Given the description of an element on the screen output the (x, y) to click on. 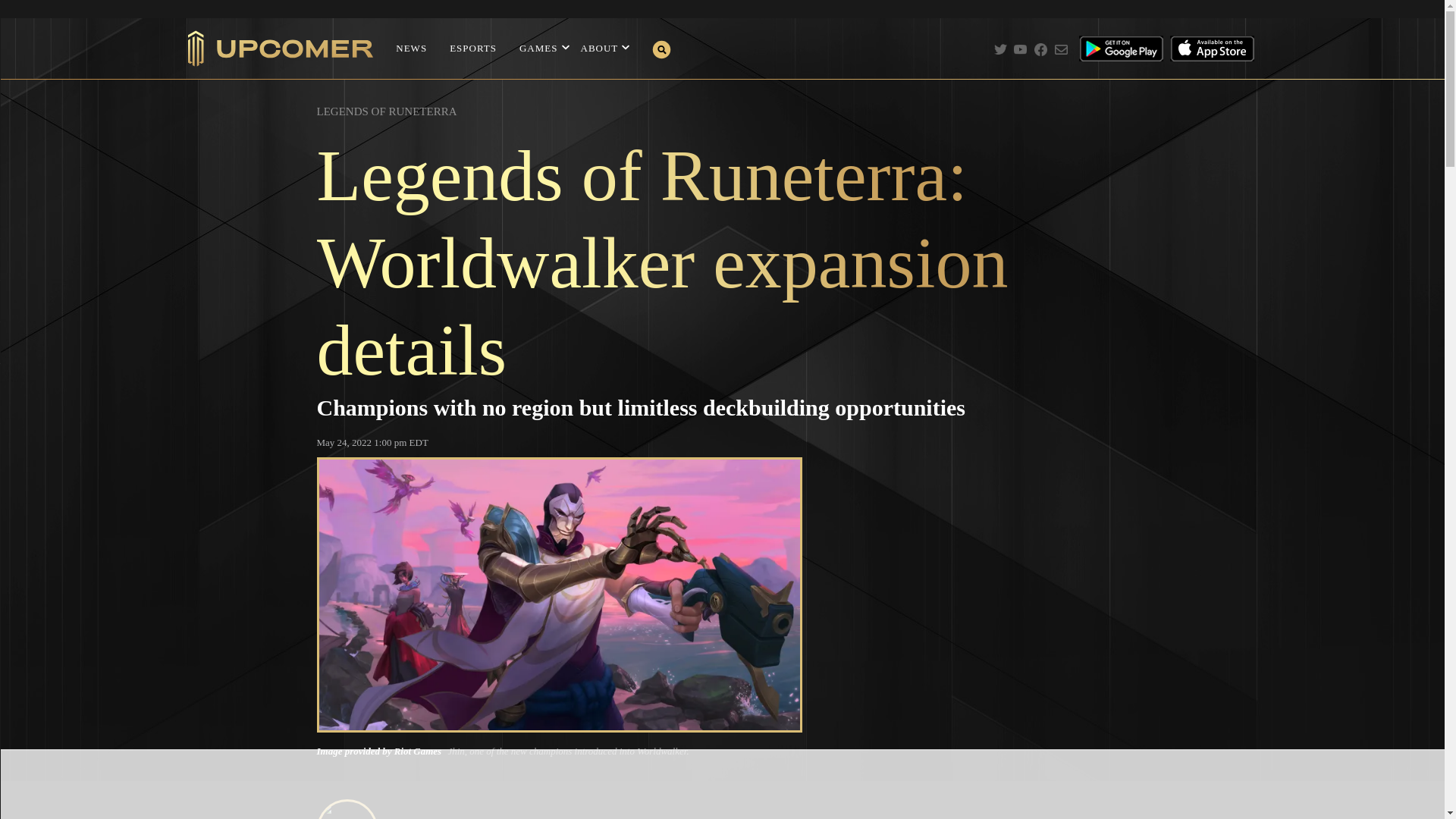
3rd party ad content (721, 785)
Upcomer Logo (280, 48)
